Given the description of an element on the screen output the (x, y) to click on. 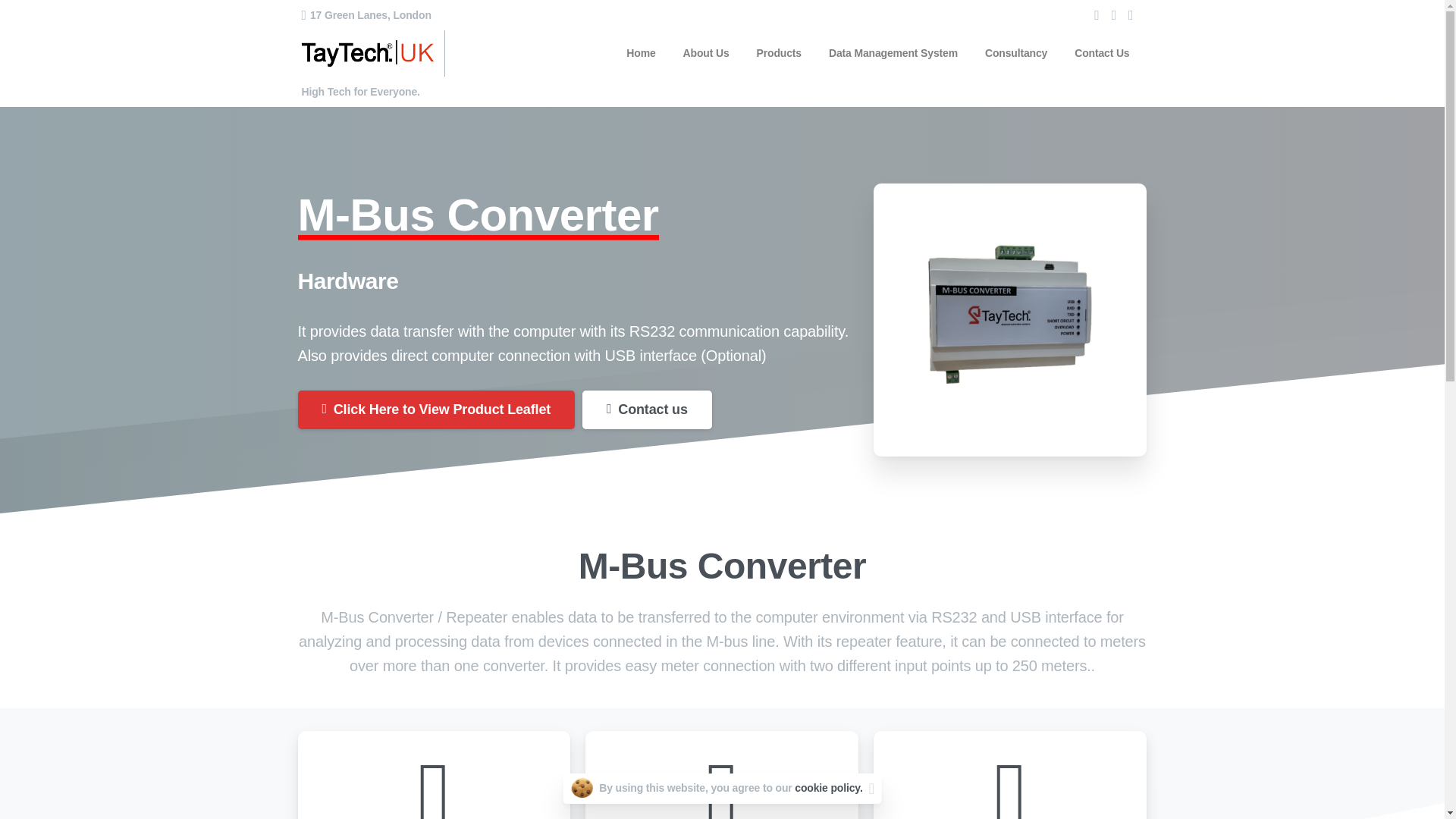
Home (640, 53)
Datalogger Gateway (794, 546)
Click Here to View Product Leaflet (436, 409)
linkedin (1113, 15)
Data Management System (892, 53)
Magnetic Filters (649, 605)
No-Code Platform (794, 635)
About Us (706, 53)
GPRS Modem (794, 605)
Pumps (649, 546)
Control Panels (649, 576)
Consultancy (1015, 53)
Products (779, 53)
Contact us (646, 409)
Consultancy (649, 663)
